Given the description of an element on the screen output the (x, y) to click on. 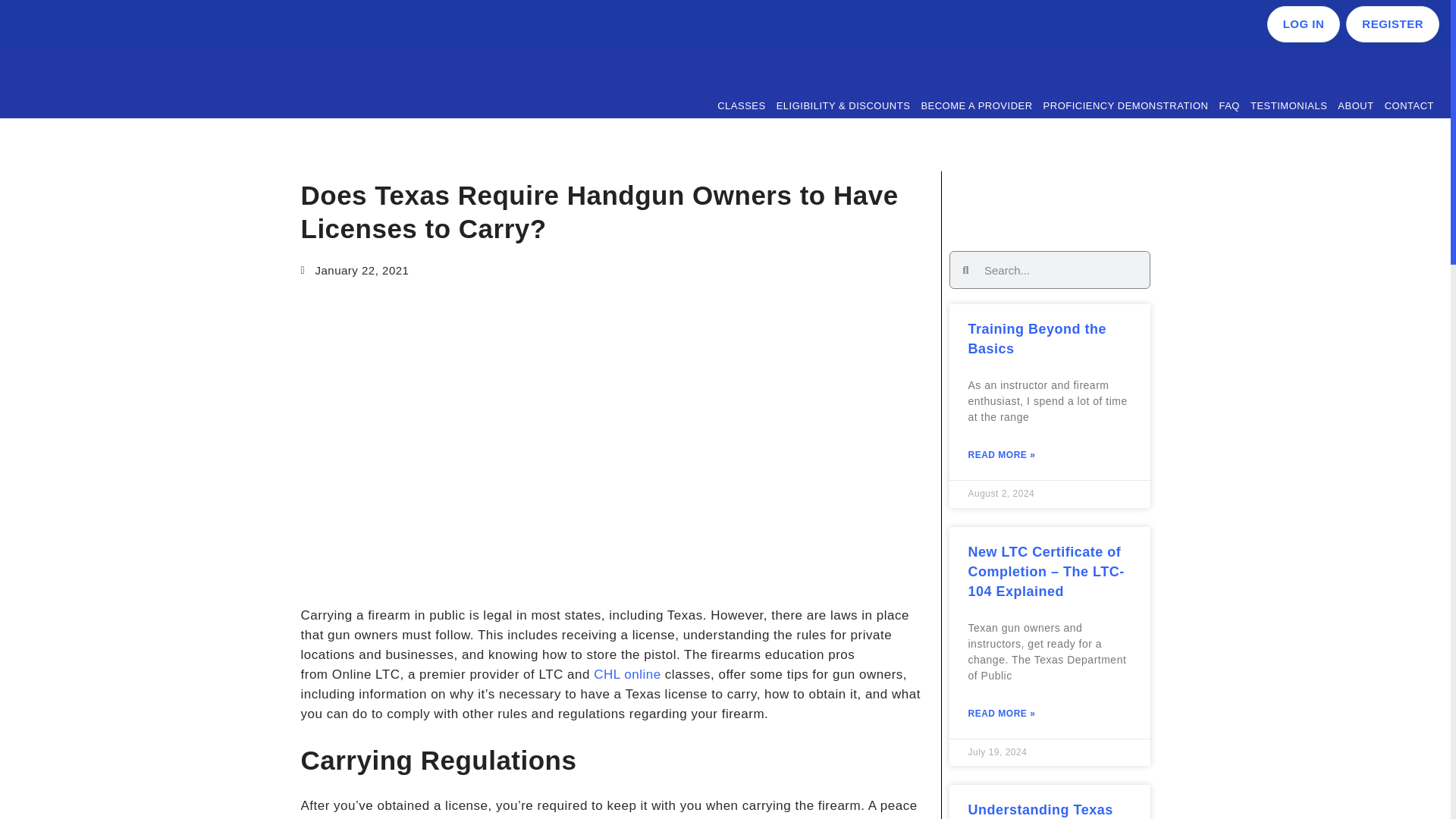
CONTACT (1408, 105)
Become a Provider (975, 105)
REGISTER (1392, 23)
Classes (740, 105)
Understanding Texas Gun Licenses: A Comprehensive Guide (1043, 810)
About (1355, 105)
LOG IN (1303, 23)
BECOME A PROVIDER (975, 105)
CHL online (627, 674)
PROFICIENCY DEMONSTRATION (1126, 105)
